Given the description of an element on the screen output the (x, y) to click on. 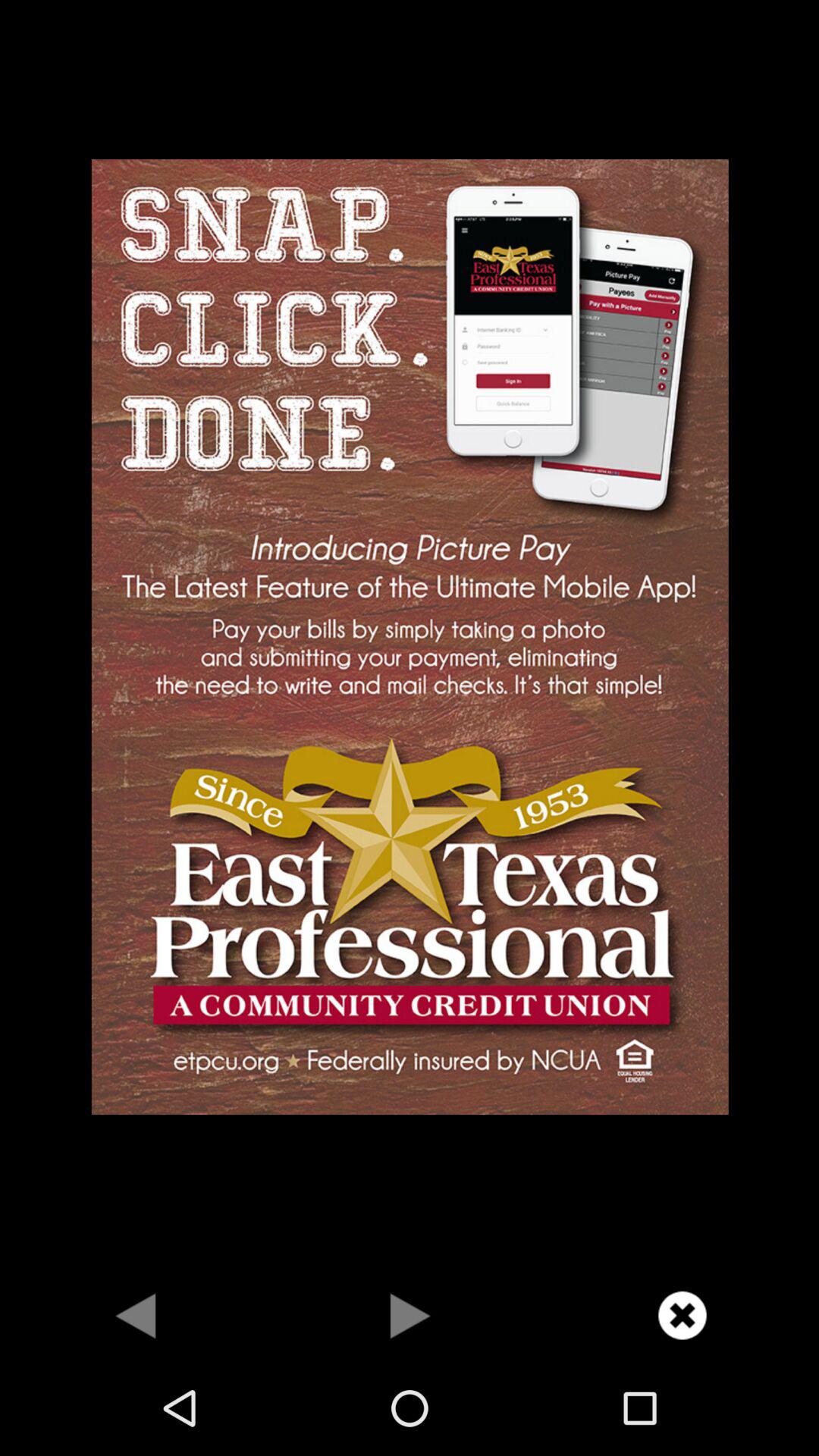
next slide (409, 1315)
